Given the description of an element on the screen output the (x, y) to click on. 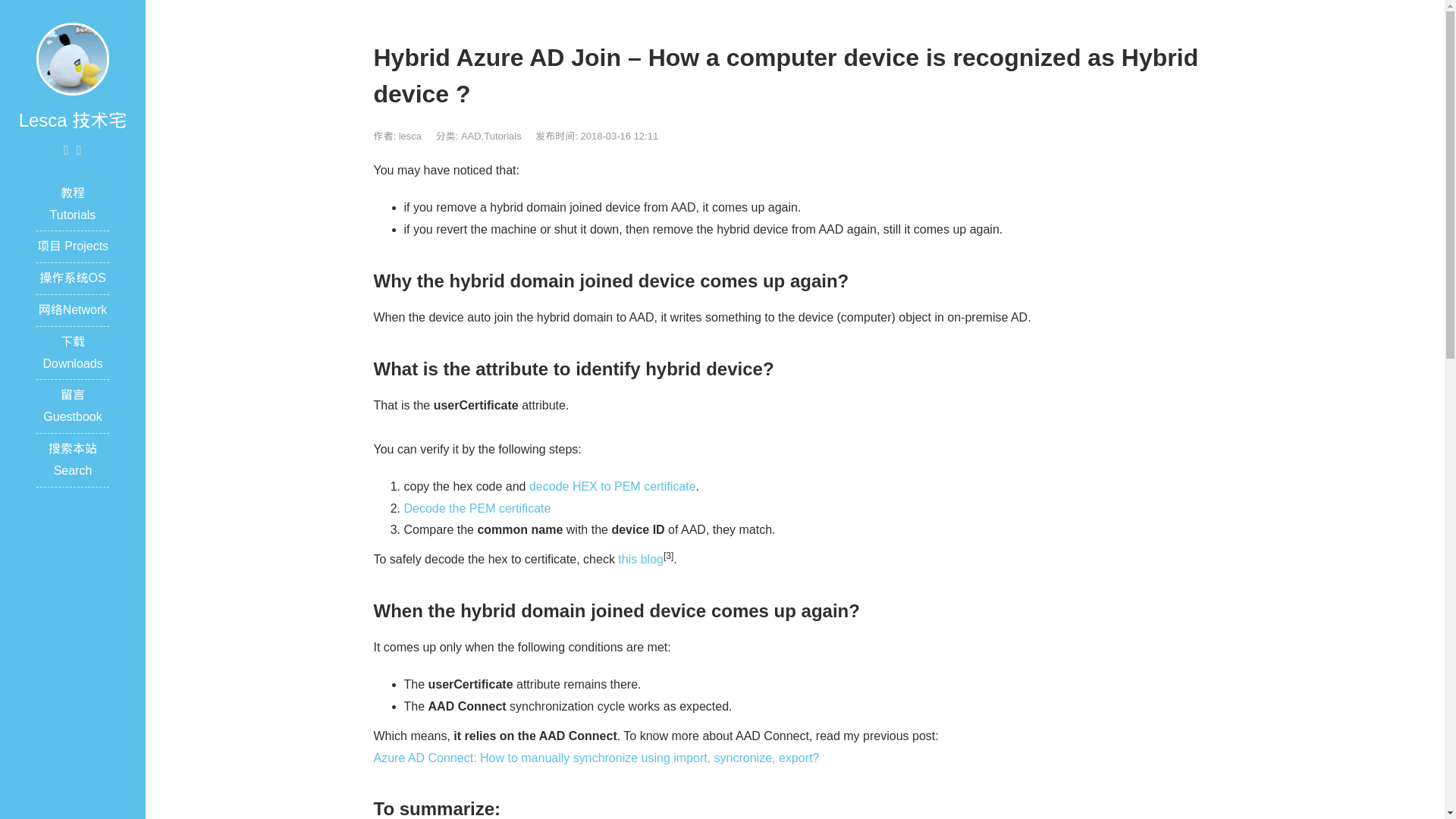
Operating System (71, 277)
this blog (640, 558)
Decode the PEM certificate (476, 508)
decode HEX to PEM certificate (612, 486)
Tutorials (502, 135)
Network (73, 309)
AAD (471, 135)
